Given the description of an element on the screen output the (x, y) to click on. 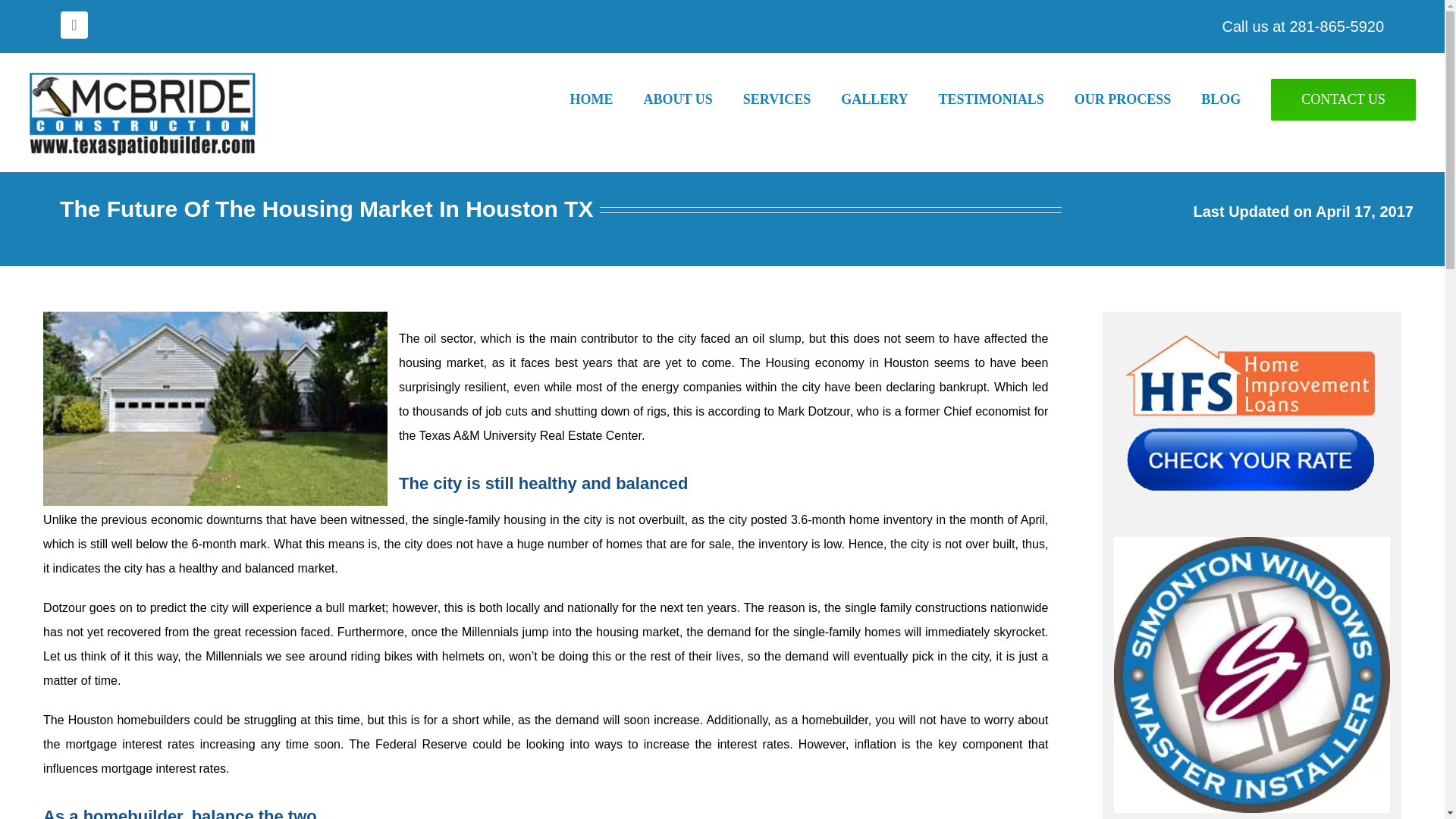
SERVICES (791, 99)
OUR PROCESS (1138, 99)
HOME (606, 99)
281-865-5920 (1336, 26)
TESTIMONIALS (1006, 99)
CONTACT US (1343, 99)
GALLERY (889, 99)
ABOUT US (692, 99)
Facebook (74, 24)
BLOG (1236, 99)
